Given the description of an element on the screen output the (x, y) to click on. 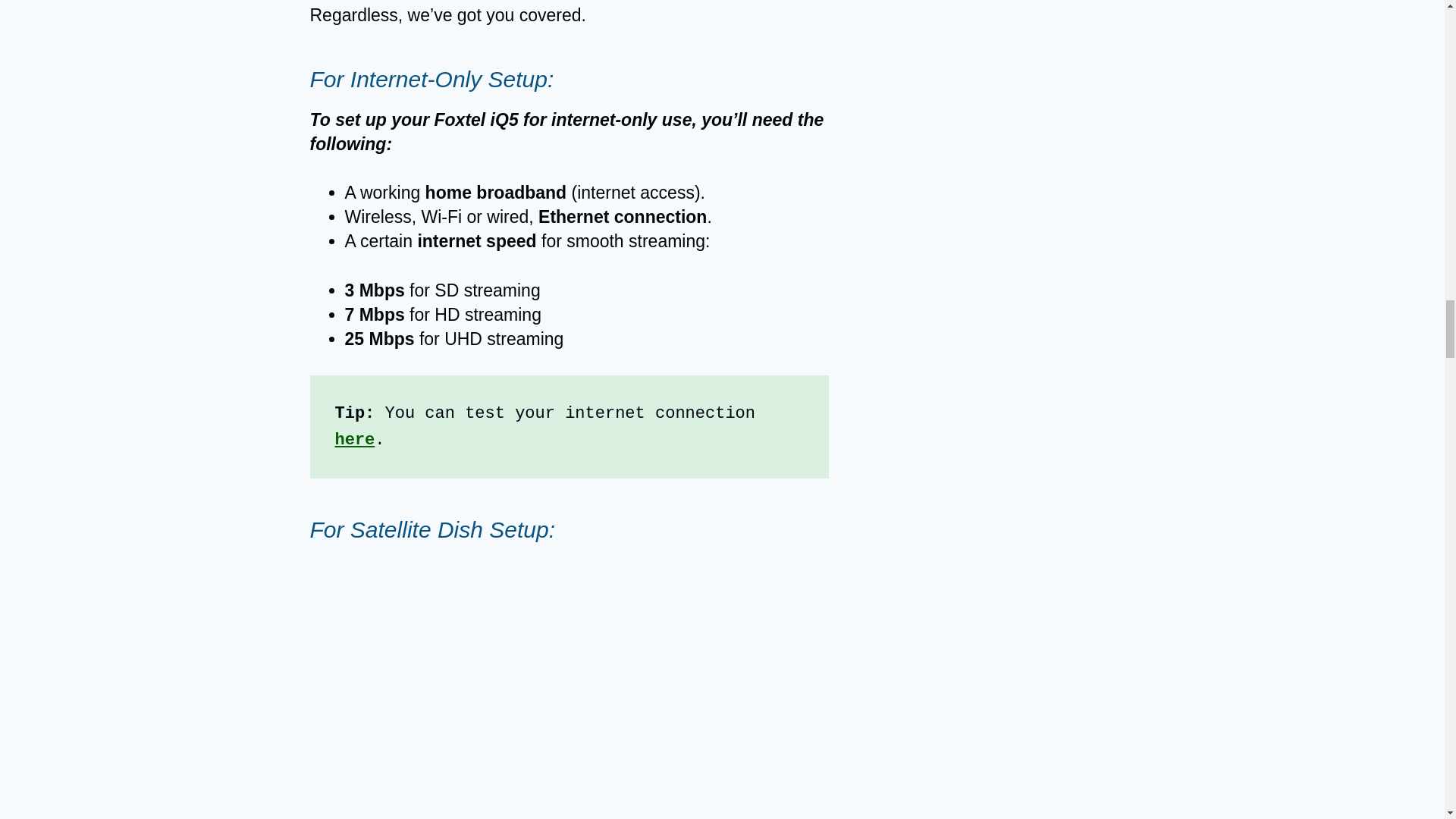
here (354, 439)
